Given the description of an element on the screen output the (x, y) to click on. 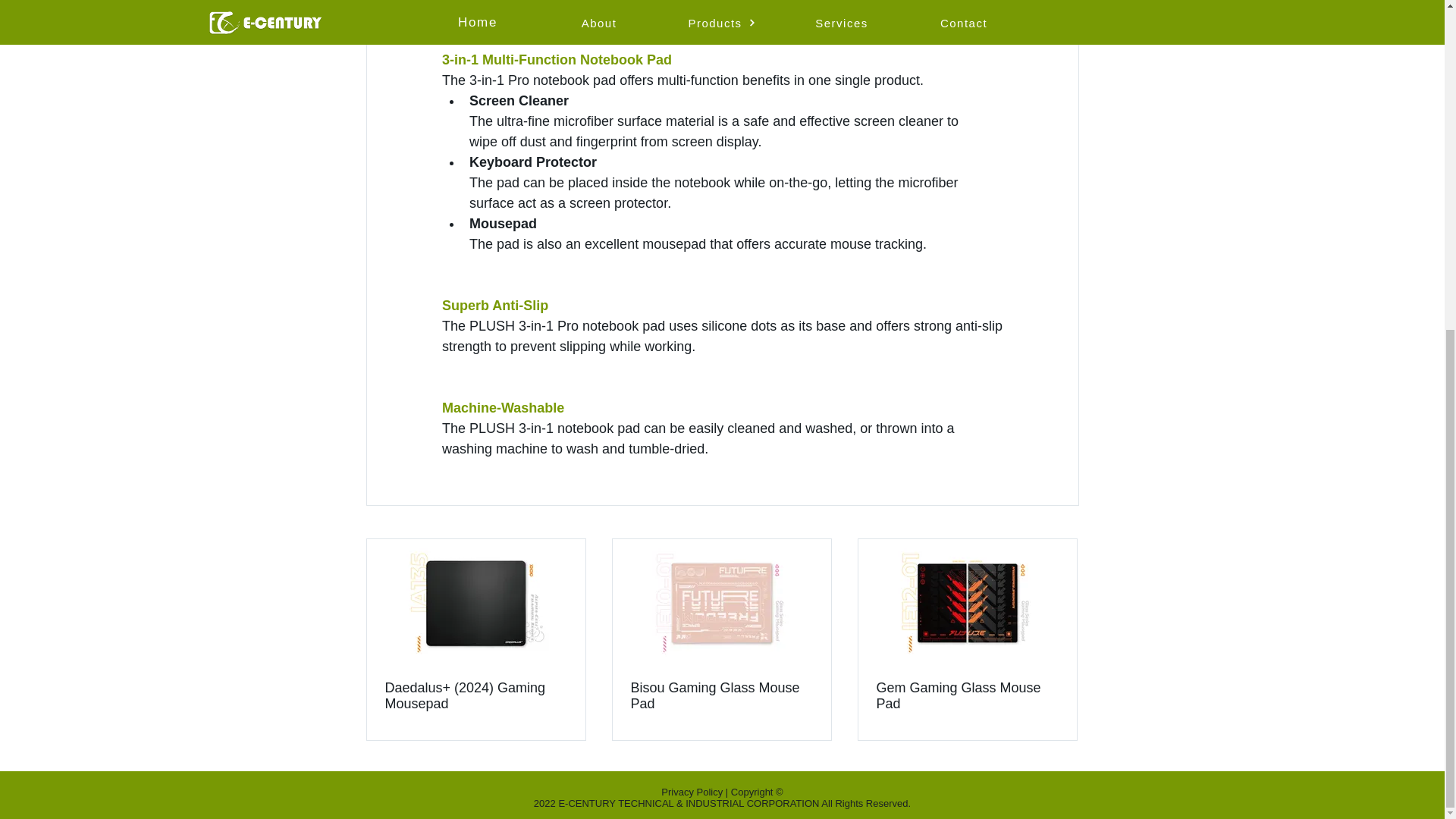
Bisou Gaming Glass Mouse Pad (721, 695)
Gem Gaming Glass Mouse Pad (967, 695)
